Given the description of an element on the screen output the (x, y) to click on. 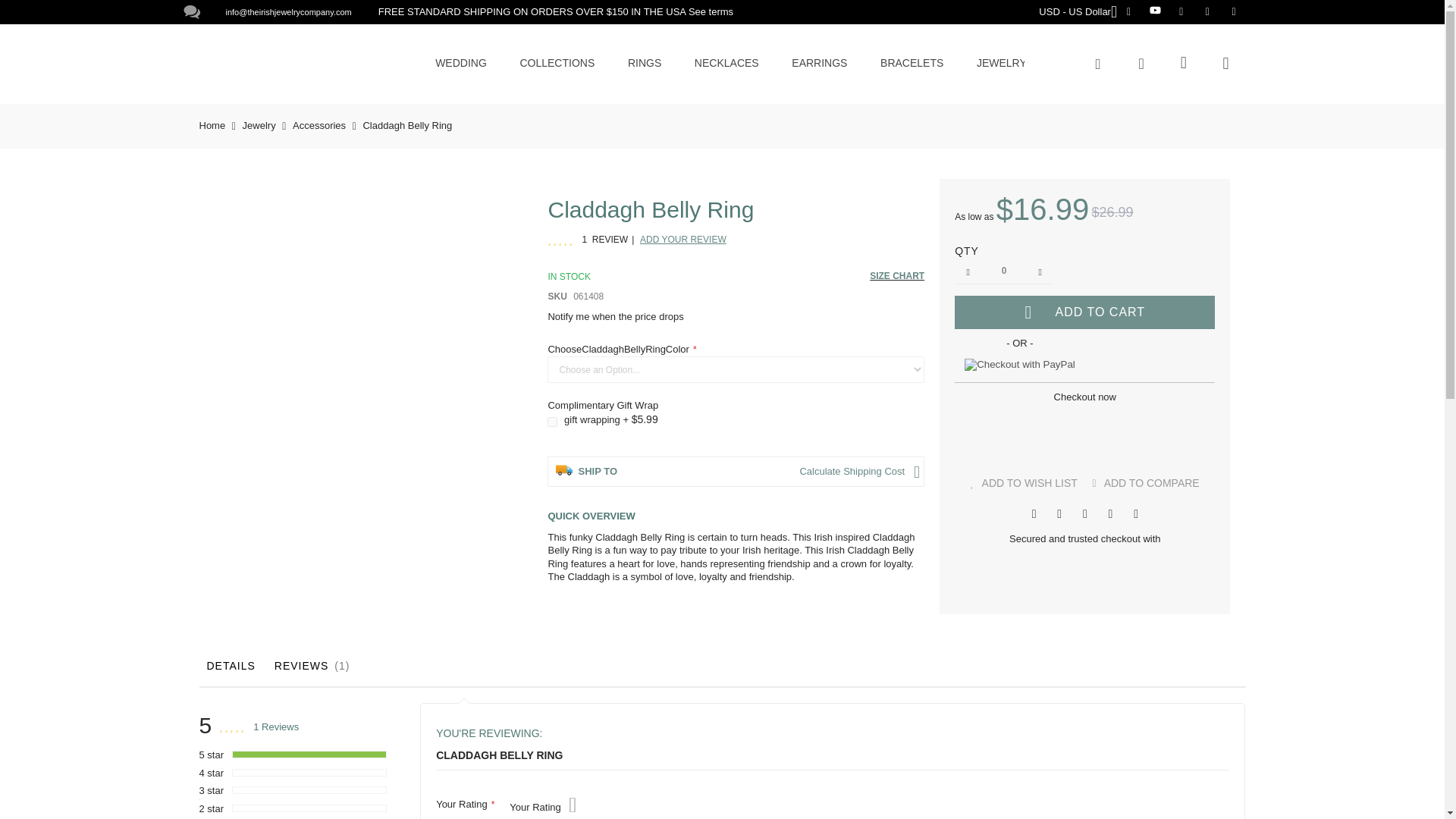
Checkout with PayPal (1019, 364)
BRACELETS (911, 62)
0 (1003, 270)
Notify me when the price drops (614, 316)
Increase (1039, 270)
Availability (575, 275)
Add to Cart (1084, 312)
Decrease (968, 270)
Share on Facebook (1034, 513)
USD - US Dollar (1077, 11)
Qty (1003, 270)
Share on Twitter (1059, 513)
Accessories (319, 125)
